Given the description of an element on the screen output the (x, y) to click on. 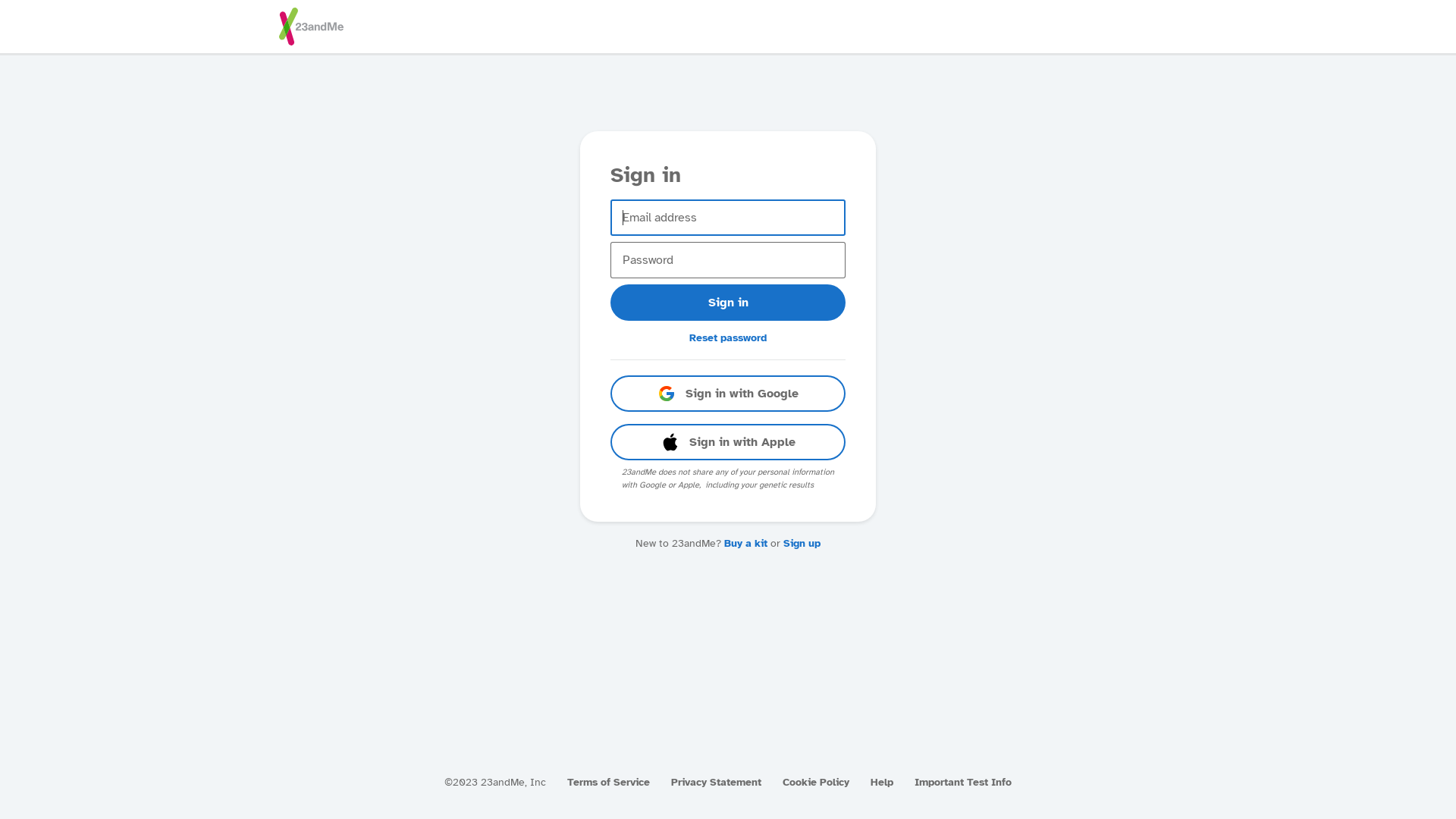
Sign in with Google Element type: text (727, 393)
Reset password Element type: text (727, 337)
Terms of Service Element type: text (608, 781)
Cookie Policy Element type: text (815, 781)
Sign in Element type: text (727, 302)
Sign up Element type: text (801, 542)
Sign in with Apple Element type: text (727, 441)
Buy a kit Element type: text (745, 542)
Help Element type: text (881, 781)
Privacy Statement Element type: text (716, 781)
Important Test Info Element type: text (962, 781)
